Given the description of an element on the screen output the (x, y) to click on. 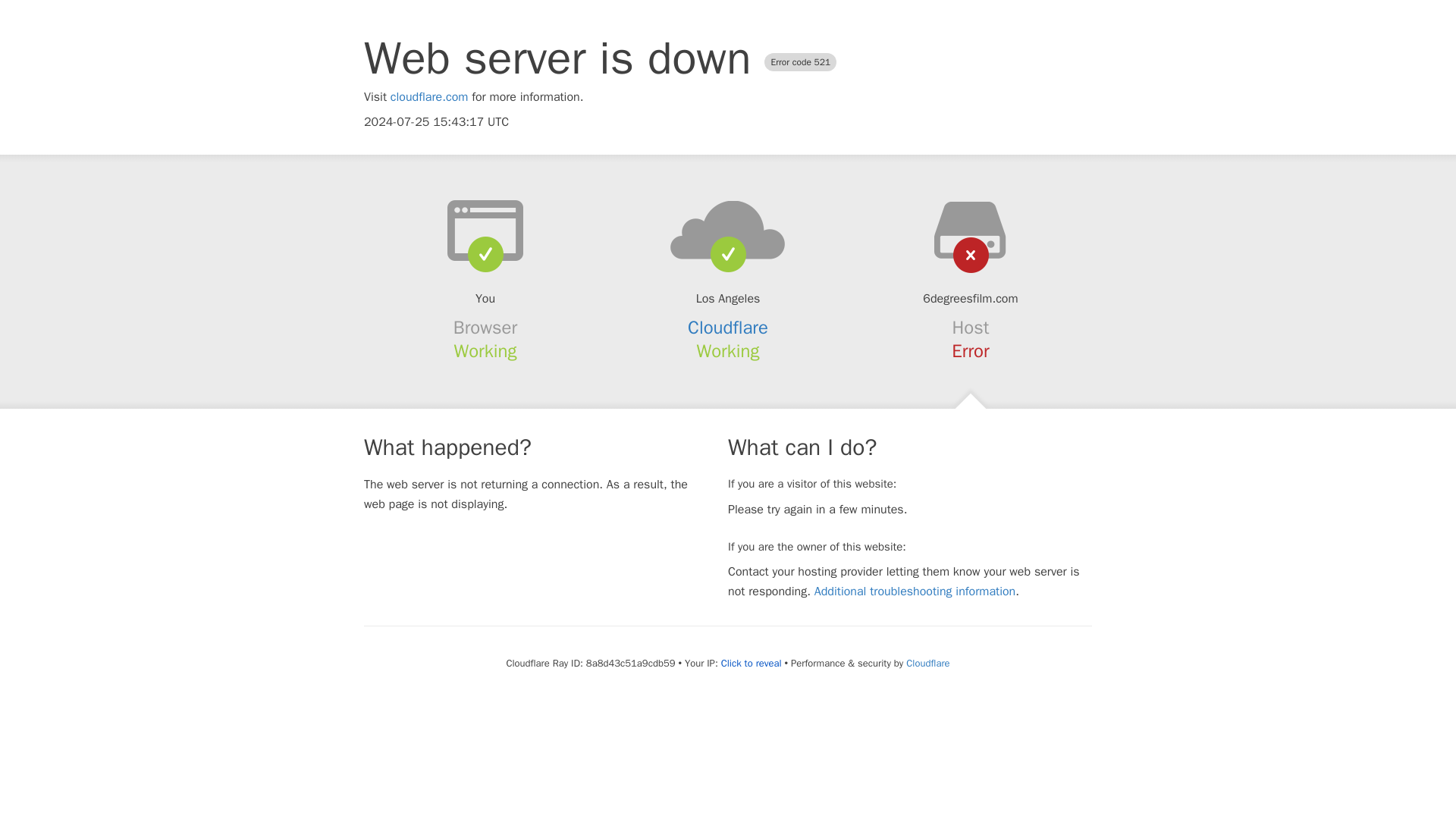
Click to reveal (750, 663)
Additional troubleshooting information (913, 590)
Cloudflare (727, 327)
cloudflare.com (429, 96)
Cloudflare (927, 662)
